Given the description of an element on the screen output the (x, y) to click on. 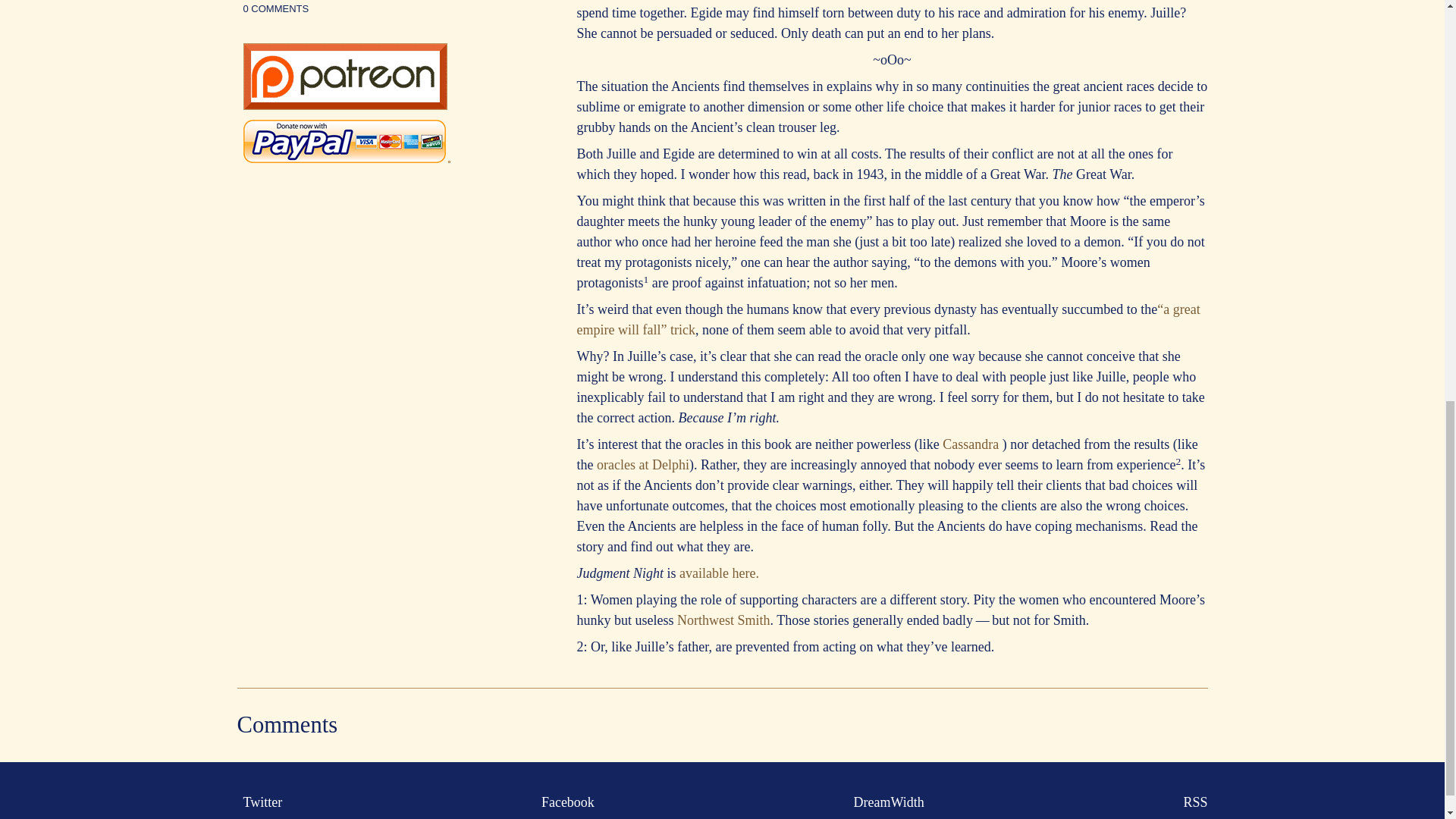
DreamWidth (885, 801)
oracles at Delphi (642, 464)
RSS (1191, 801)
Twitter (258, 801)
Cassandra (970, 444)
Northwest Smith (723, 620)
Facebook (564, 801)
Patreon (344, 105)
available here. (717, 572)
